Given the description of an element on the screen output the (x, y) to click on. 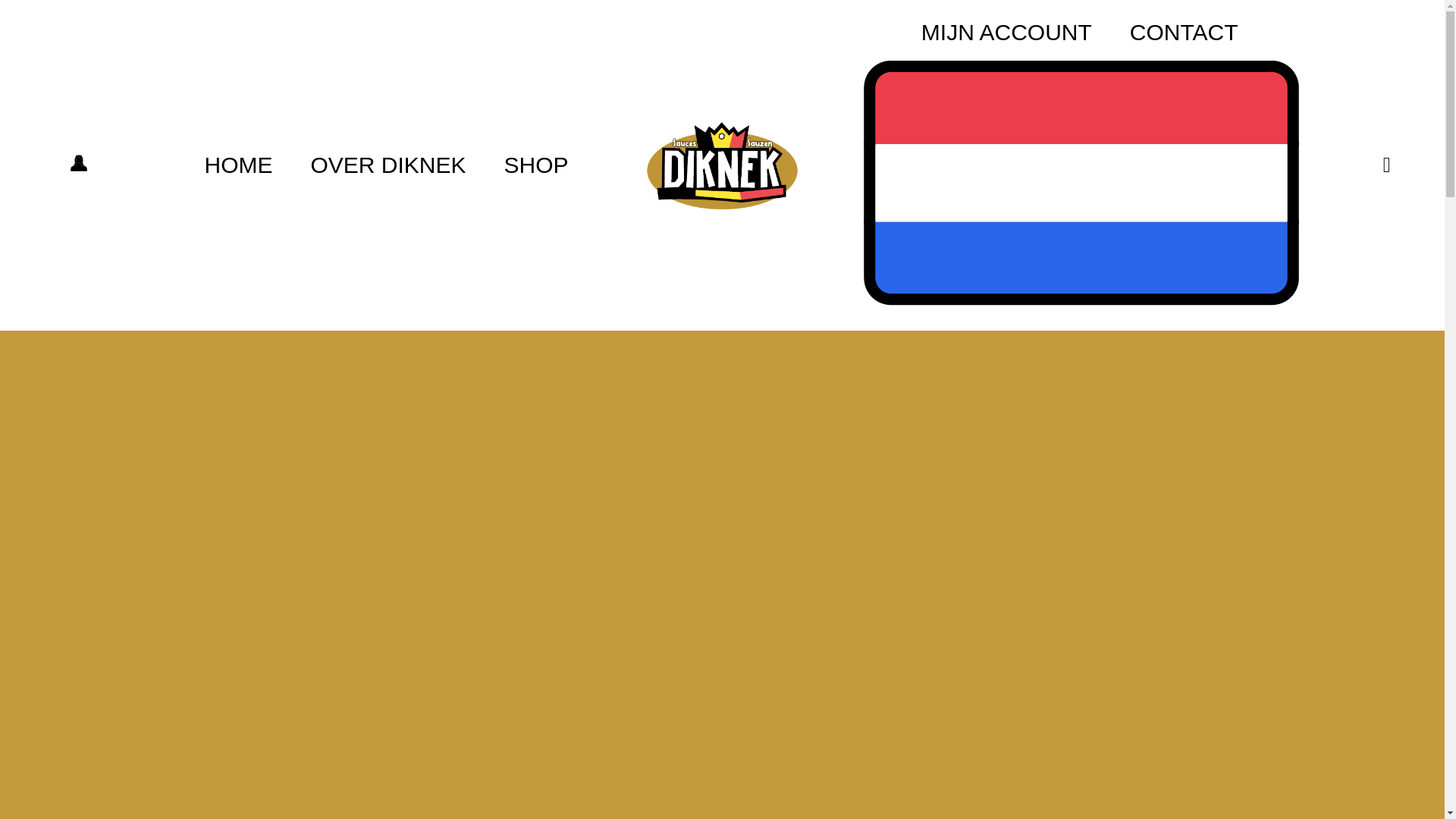
HOME (237, 165)
SHOP (536, 165)
CONTACT (1184, 32)
MIJN ACCOUNT (1005, 32)
OVER DIKNEK (387, 165)
